Given the description of an element on the screen output the (x, y) to click on. 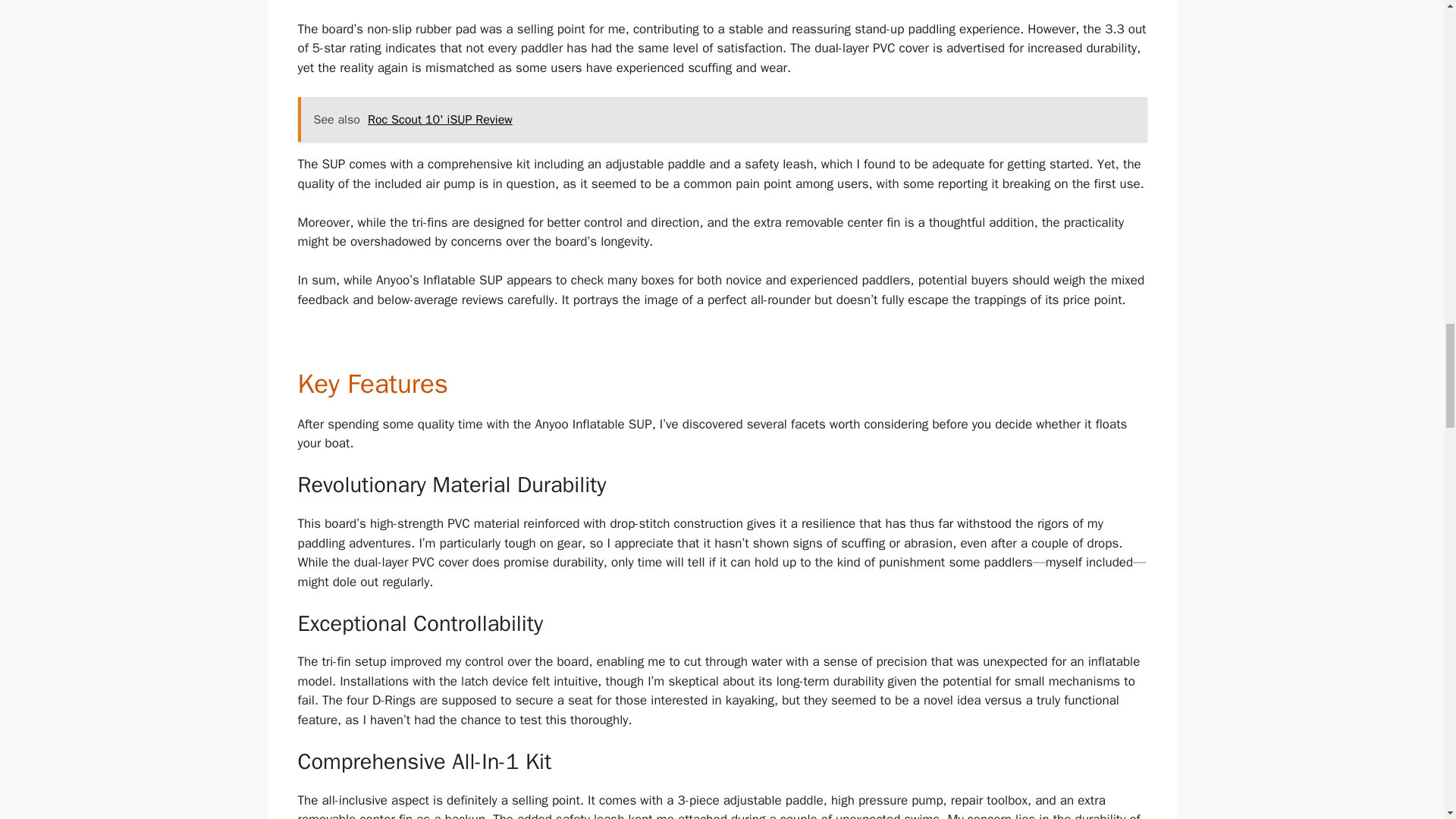
See also  Roc Scout 10' iSUP Review (722, 119)
